Given the description of an element on the screen output the (x, y) to click on. 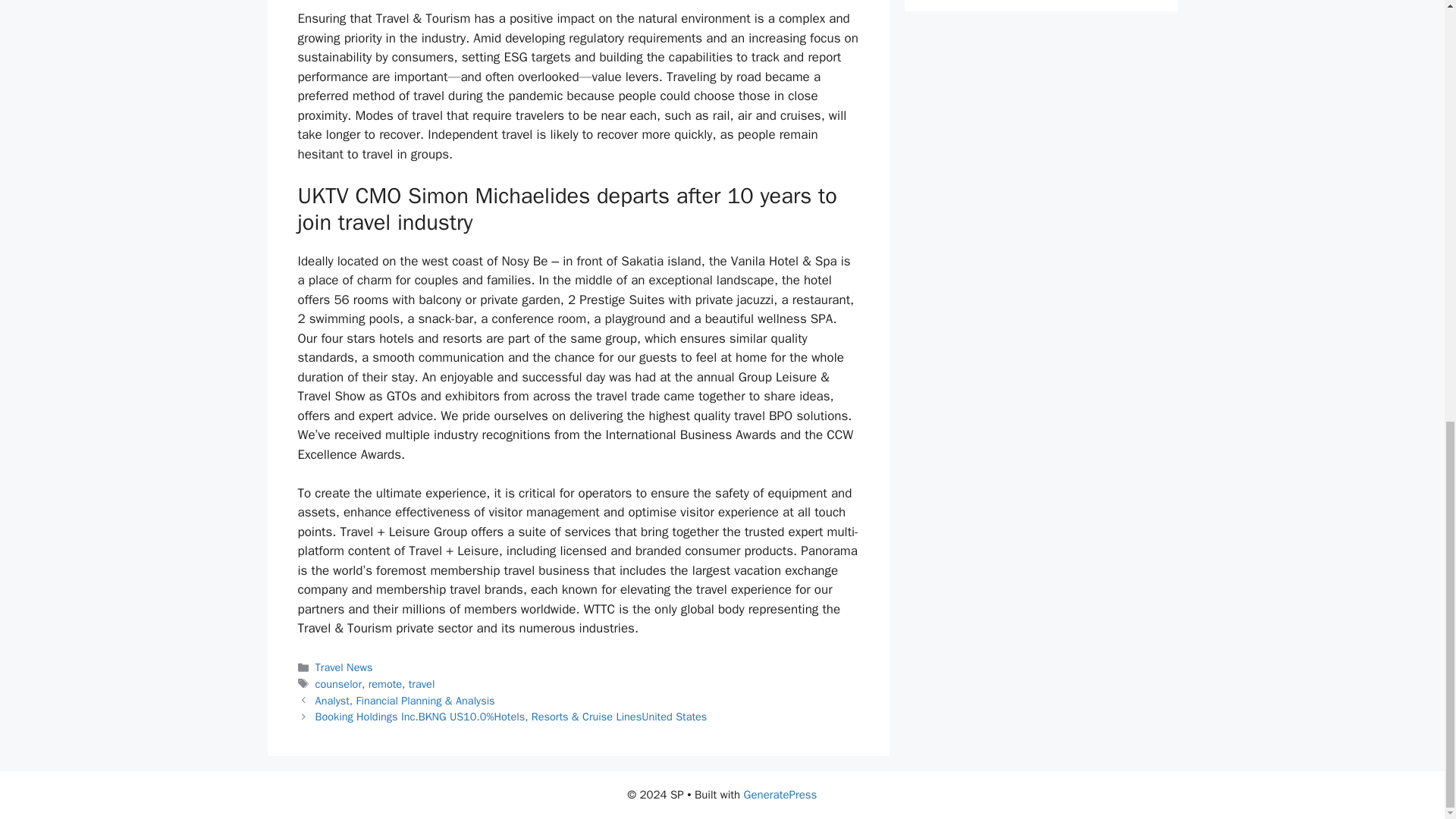
GeneratePress (780, 794)
counselor (338, 684)
Travel News (343, 667)
remote (384, 684)
travel (422, 684)
